Given the description of an element on the screen output the (x, y) to click on. 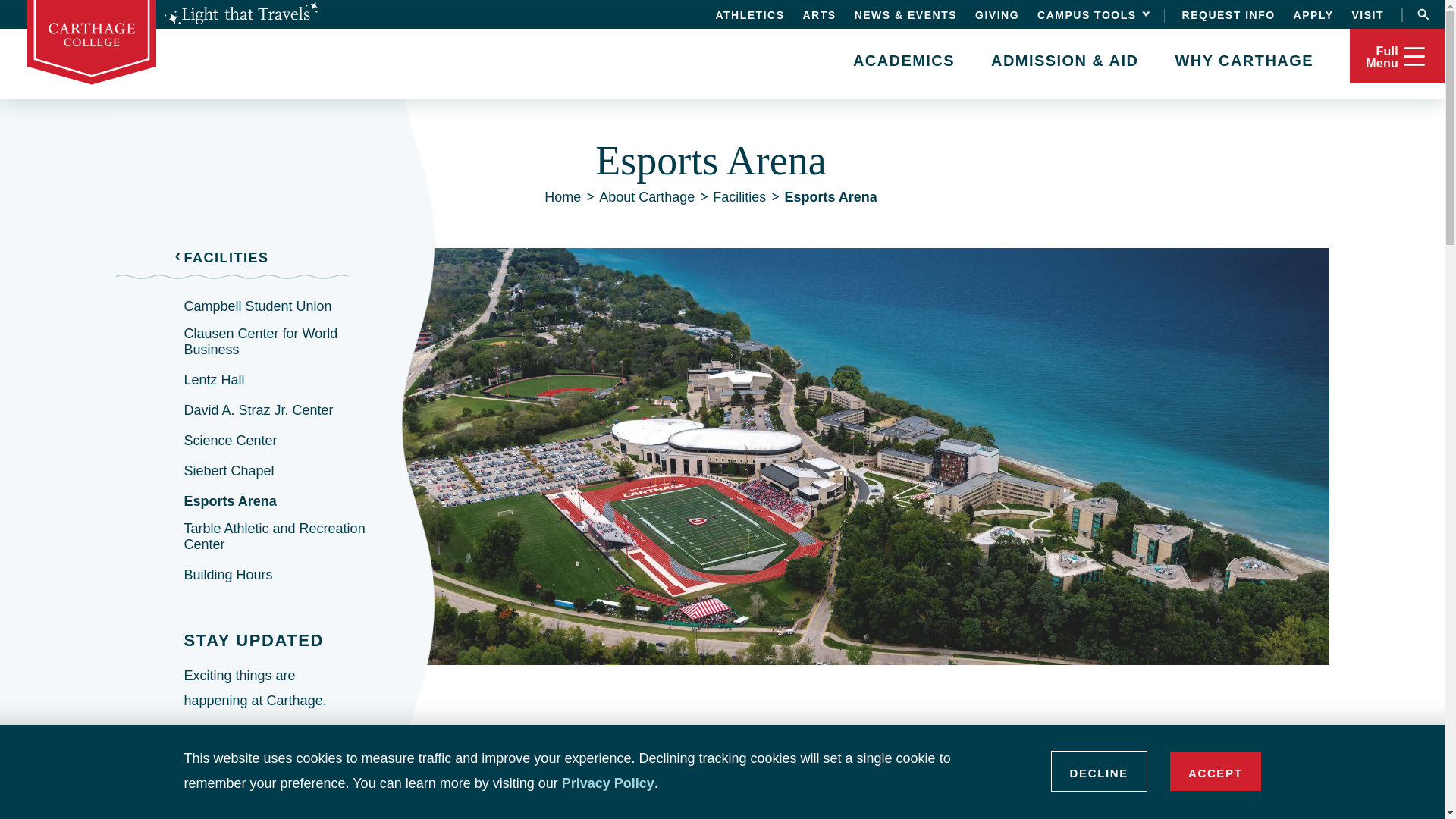
ARTS (818, 14)
WHY CARTHAGE (1243, 59)
ATHLETICS (749, 14)
CAMPUS TOOLS (1091, 14)
Light that Travels (240, 14)
REQUEST INFO (1228, 14)
Carthage Esports Arena (859, 800)
ACADEMICS (904, 59)
VISIT (1367, 14)
APPLY (1313, 14)
GIVING (997, 14)
